Given the description of an element on the screen output the (x, y) to click on. 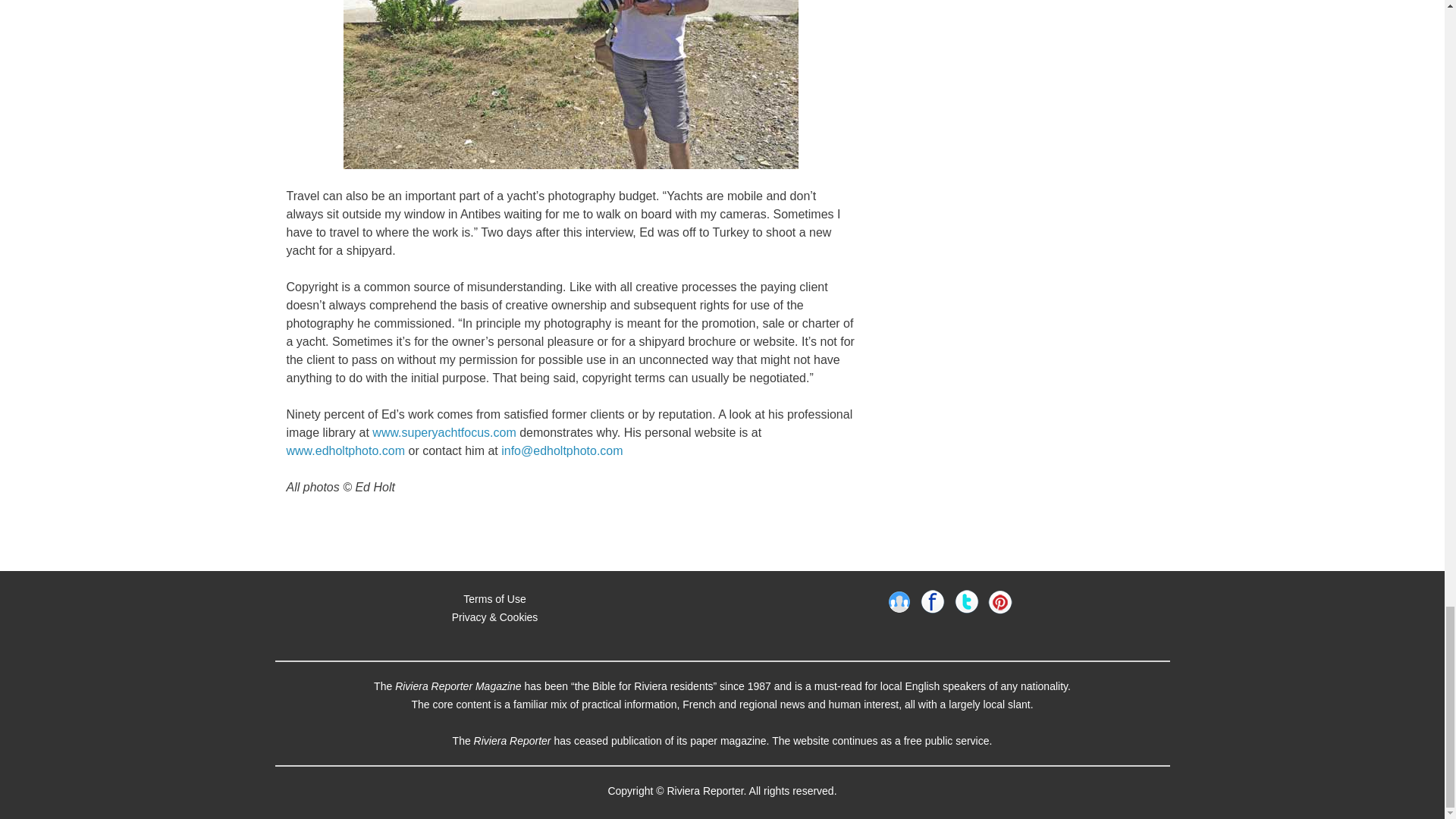
Terms of Use (494, 598)
Privacy Policy (494, 616)
